Given the description of an element on the screen output the (x, y) to click on. 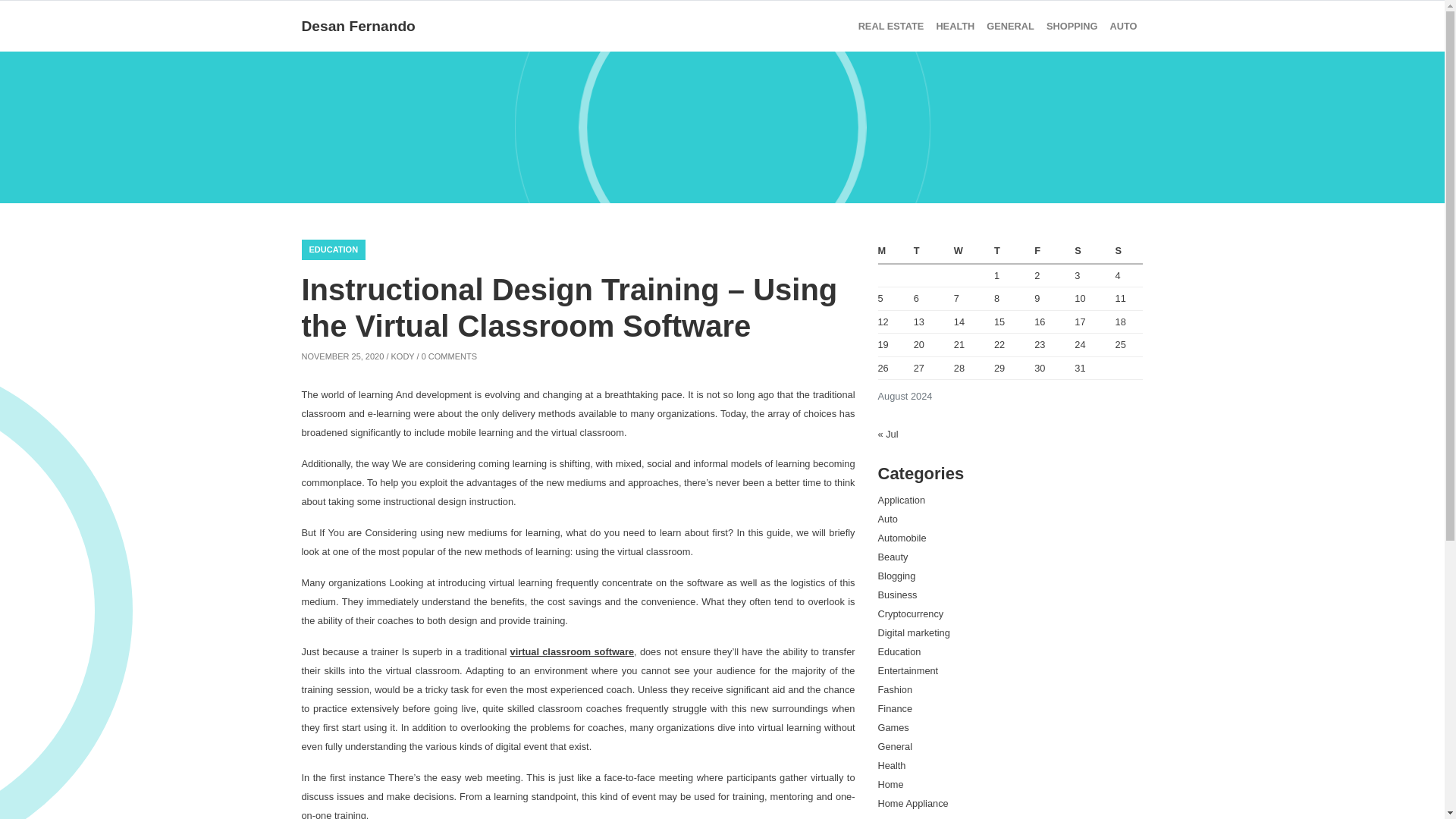
Beauty (892, 556)
Application (901, 500)
Sunday (1126, 251)
Health (954, 26)
SHOPPING (1072, 26)
Shopping (1072, 26)
Automobile (901, 537)
Wednesday (970, 251)
Business (897, 594)
Cryptocurrency (910, 613)
